Given the description of an element on the screen output the (x, y) to click on. 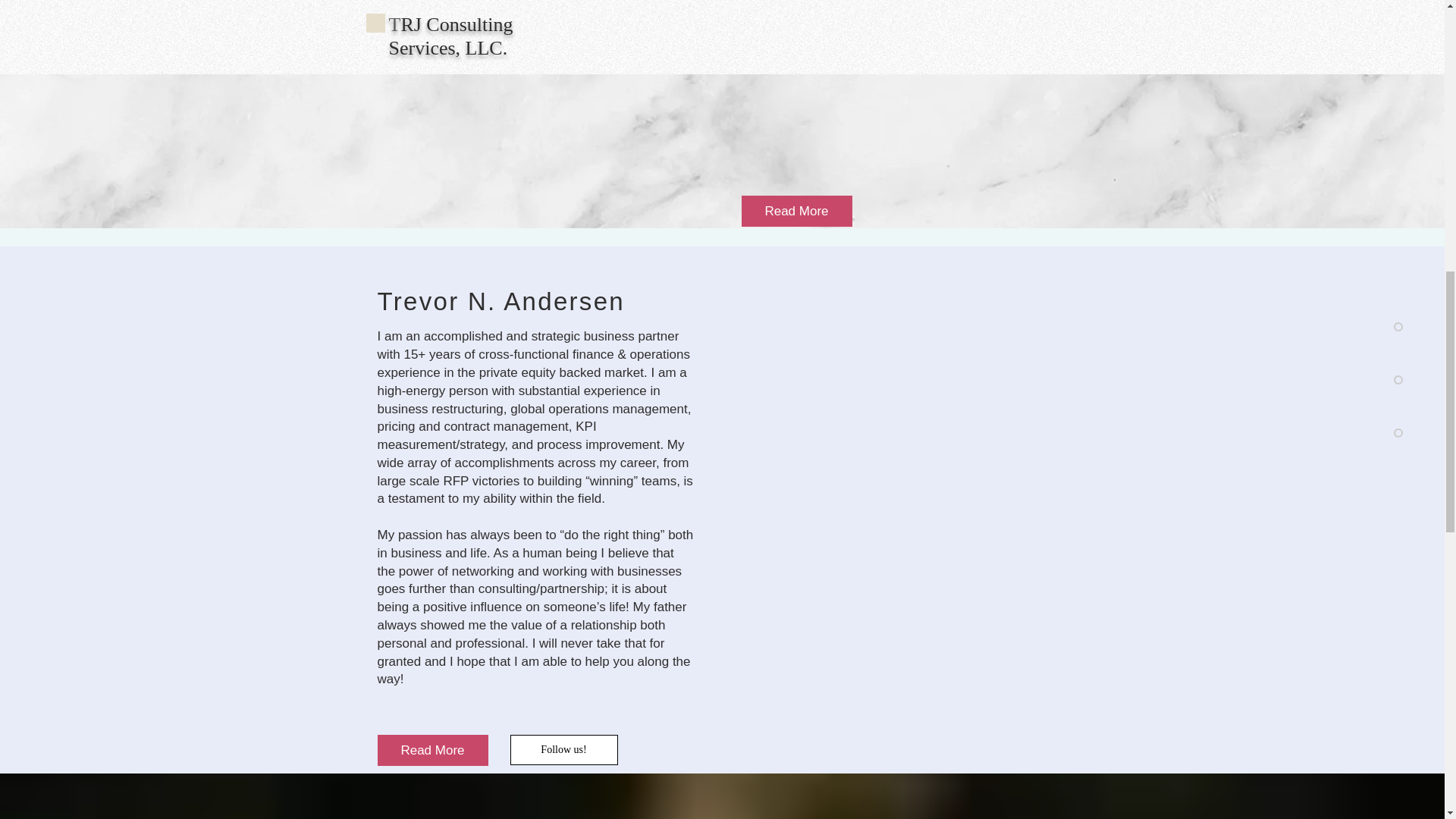
Read More (796, 210)
Follow us! (563, 749)
Read More (432, 749)
